Given the description of an element on the screen output the (x, y) to click on. 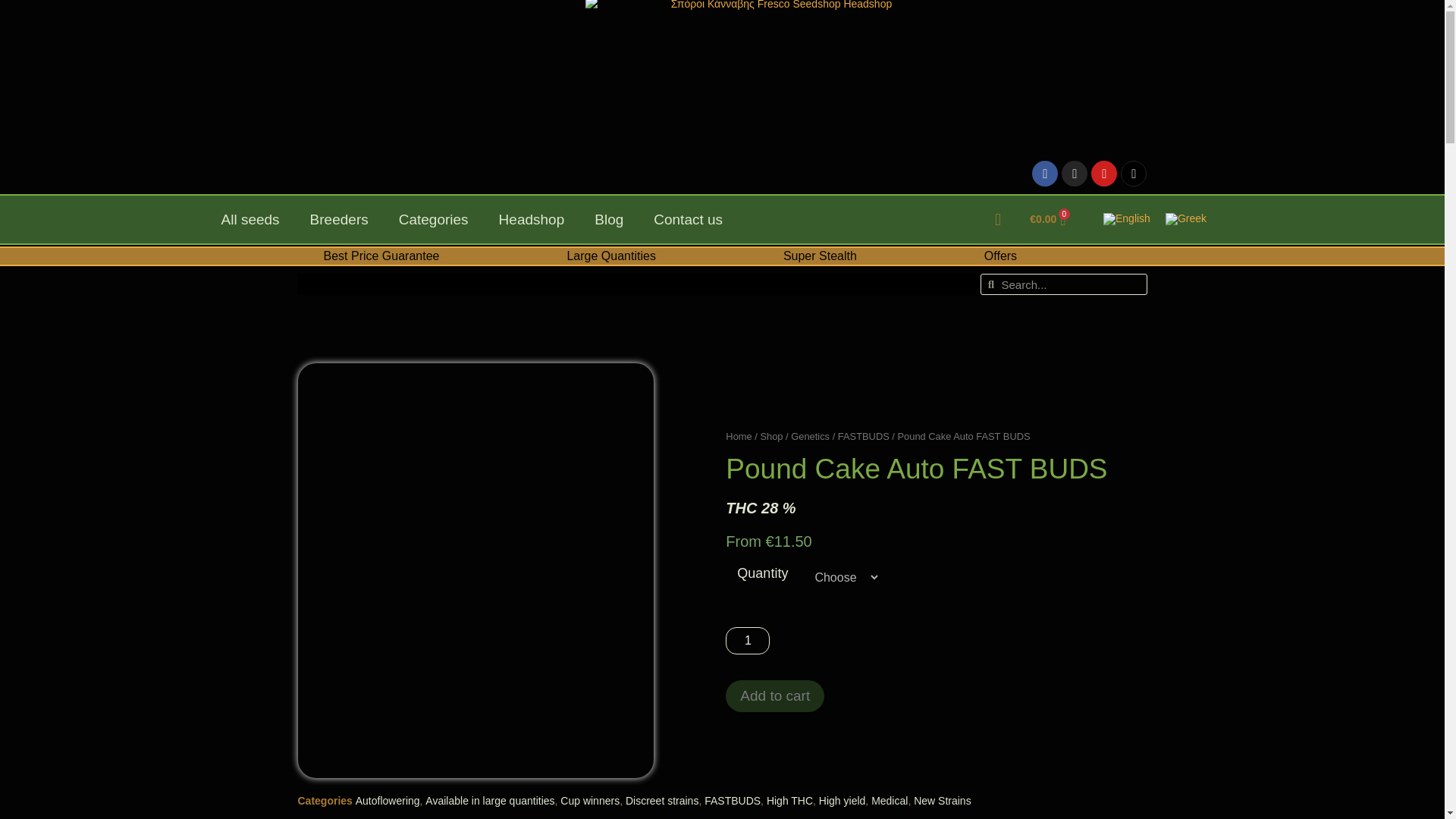
Breeders (339, 219)
1 (747, 640)
All seeds (250, 219)
Qty (747, 640)
Categories (433, 219)
